Given the description of an element on the screen output the (x, y) to click on. 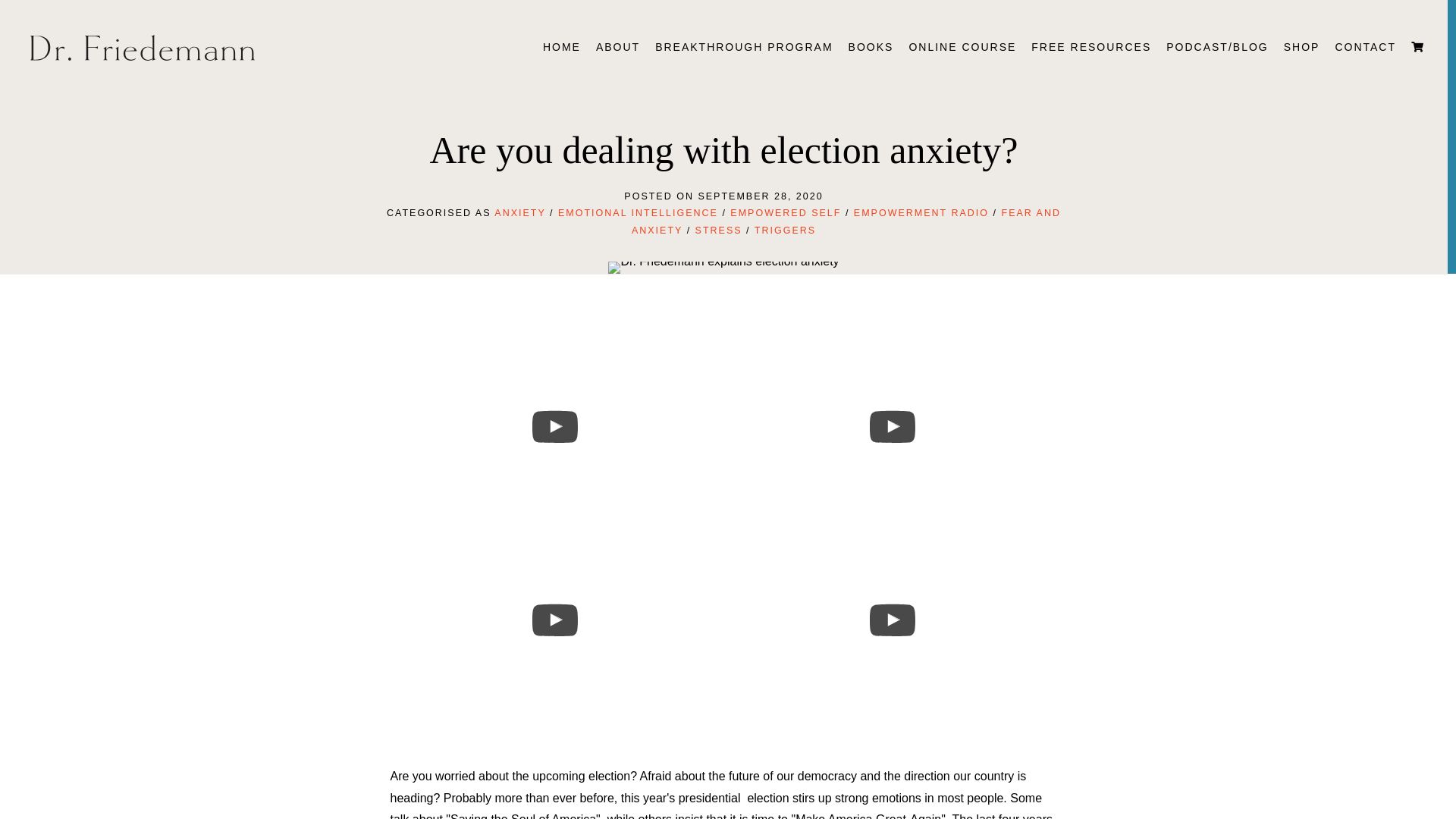
ABOUT (617, 47)
SHOP (1301, 47)
EMPOWERMENT RADIO (920, 213)
Dr Friedemann logo (142, 47)
EMOTIONAL INTELLIGENCE (637, 213)
ANXIETY (519, 213)
TRIGGERS (784, 229)
FREE RESOURCES (1090, 47)
BREAKTHROUGH PROGRAM (743, 47)
FEAR AND ANXIETY (846, 221)
